Given the description of an element on the screen output the (x, y) to click on. 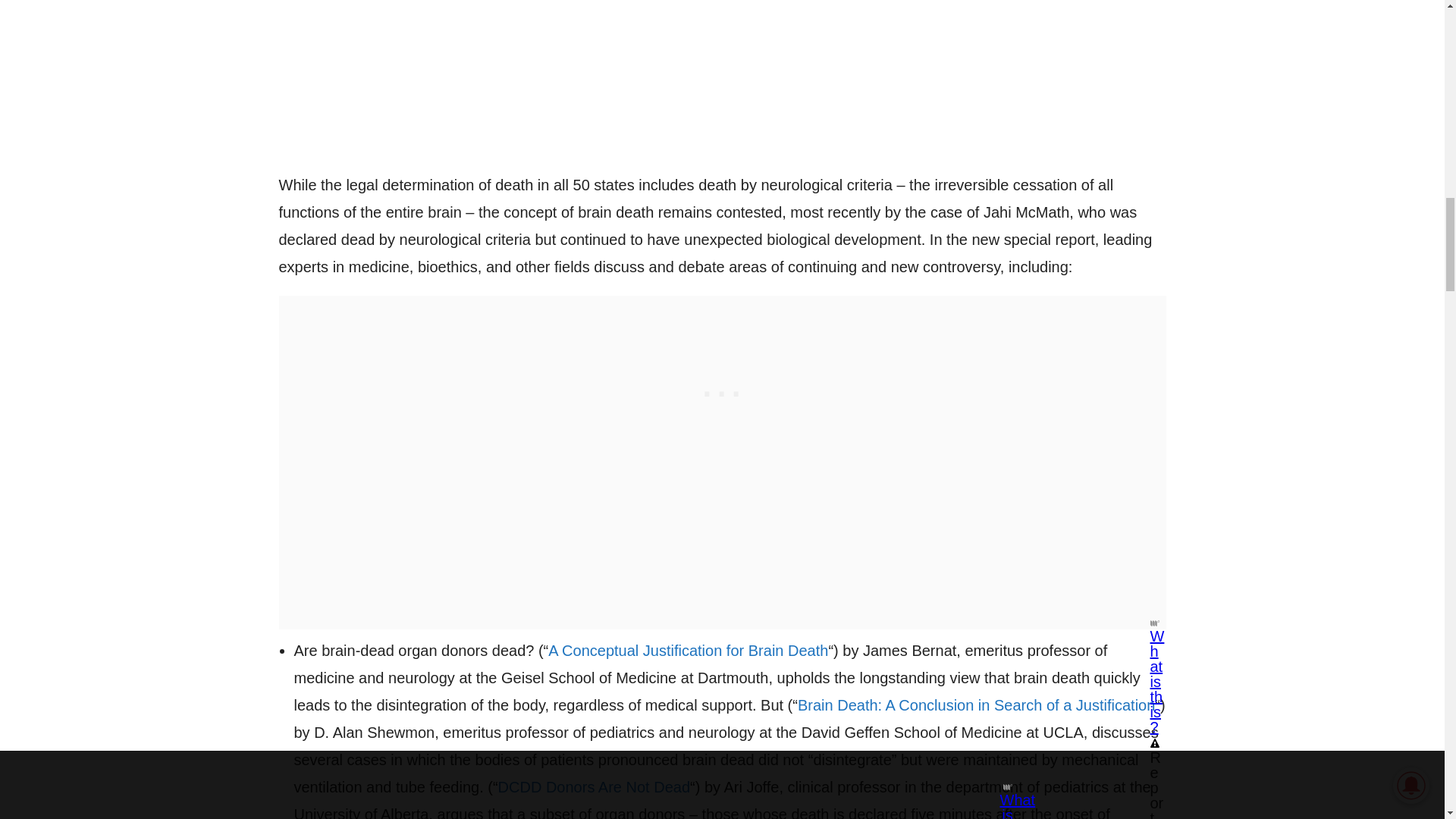
DCDD Donors Are Not Dead (593, 786)
A Conceptual Justification for Brain Death (688, 650)
Brain Death: A Conclusion in Search of a Justification (975, 704)
3rd party ad content (721, 390)
